Given the description of an element on the screen output the (x, y) to click on. 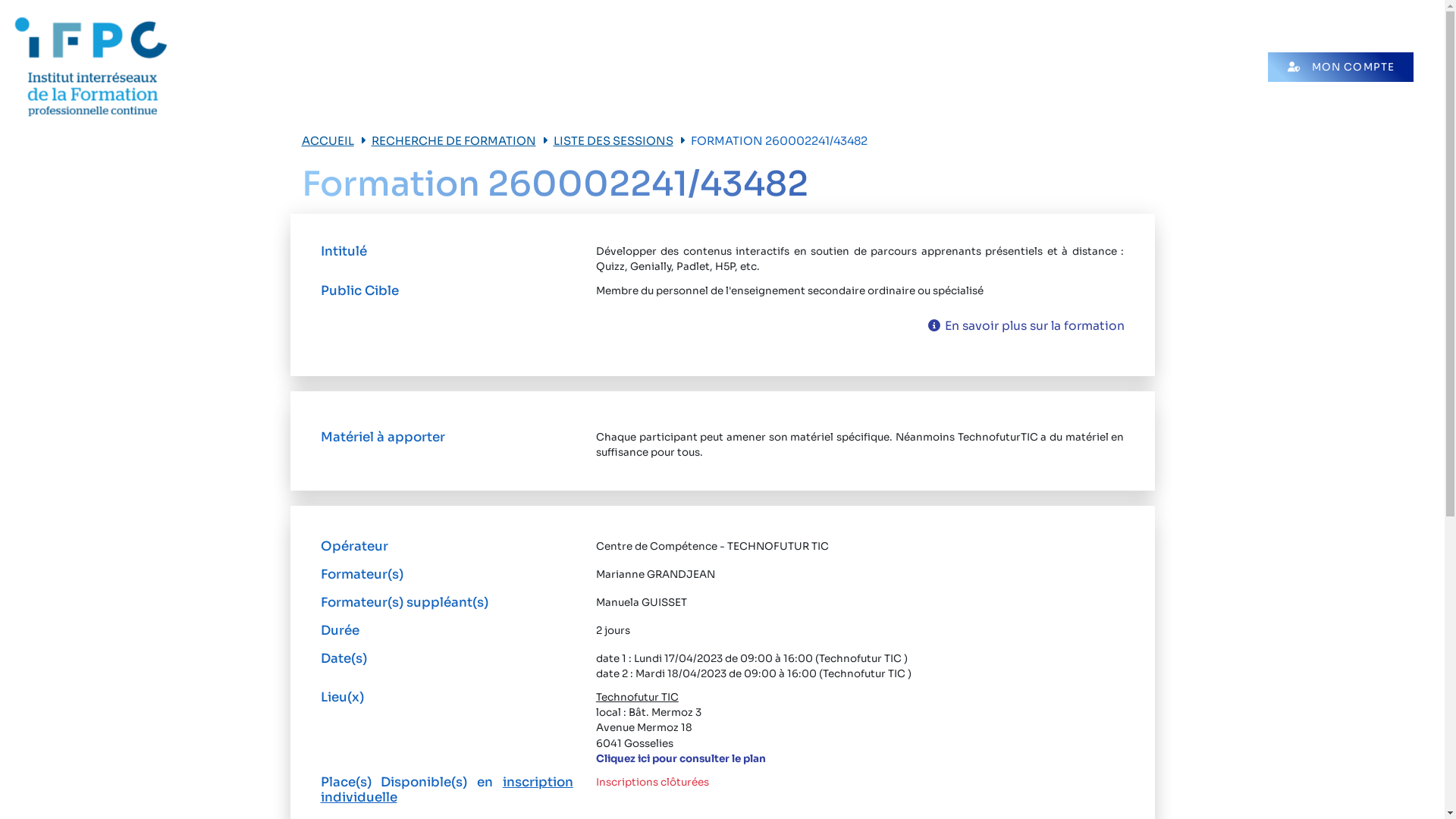
MON COMPTE Element type: text (1340, 66)
Cliquez ici pour consulter le plan Element type: text (680, 758)
En savoir plus sur la formation Element type: text (1026, 325)
RECHERCHE DE FORMATION Element type: text (453, 140)
ACCUEIL Element type: text (327, 140)
LISTE DES SESSIONS Element type: text (613, 140)
IFPC Element type: text (90, 66)
